Given the description of an element on the screen output the (x, y) to click on. 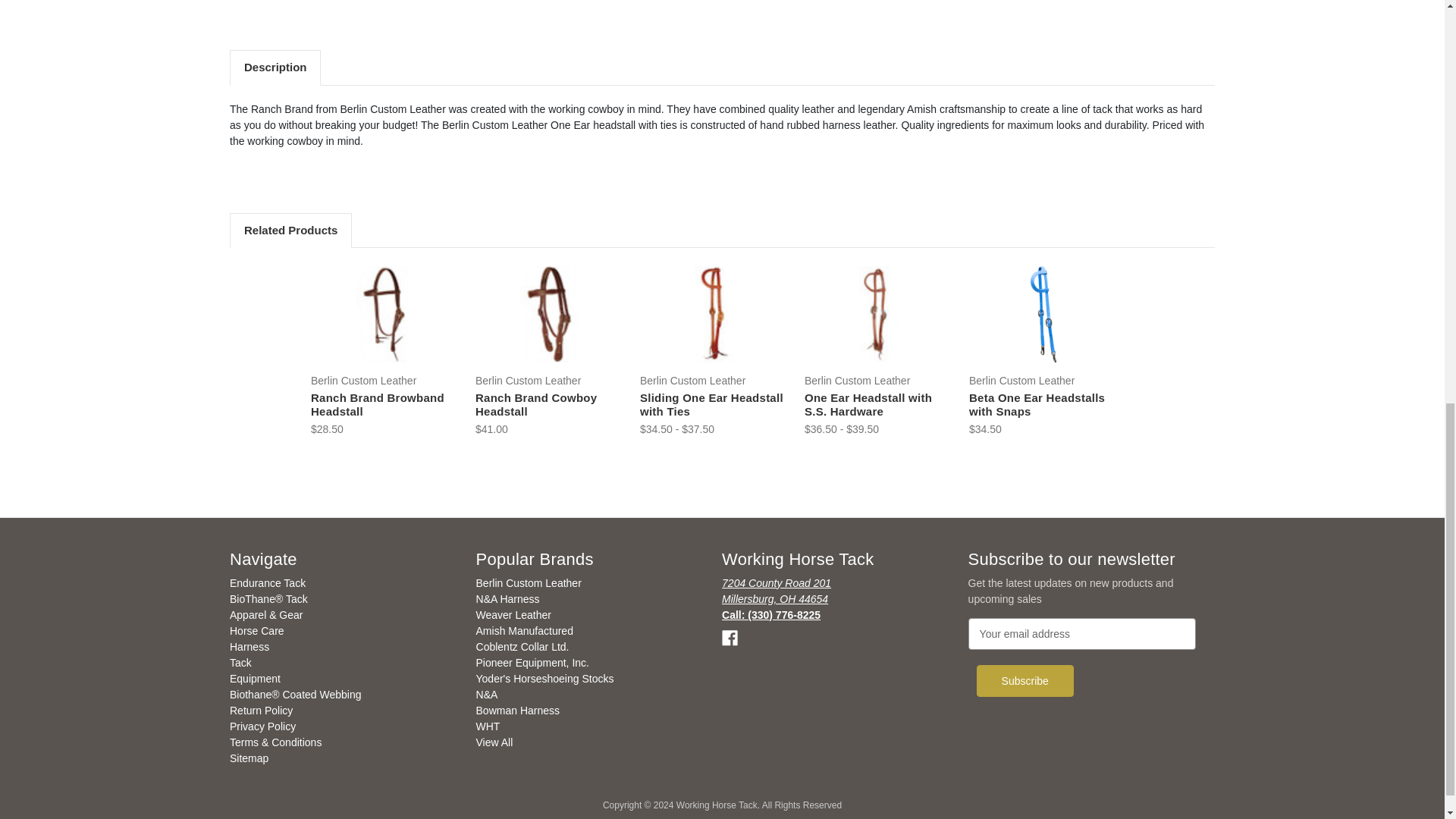
Subscribe (1025, 680)
Ranch Brand Cowboy Headstall (549, 314)
One Ear Headstall with S.S. Hardware (878, 314)
Sliding One Ear Headstall with Ties (714, 314)
Ranch Brand Browband Headstall (385, 314)
Beta One Ear Headstalls with Snaps (1043, 314)
